Given the description of an element on the screen output the (x, y) to click on. 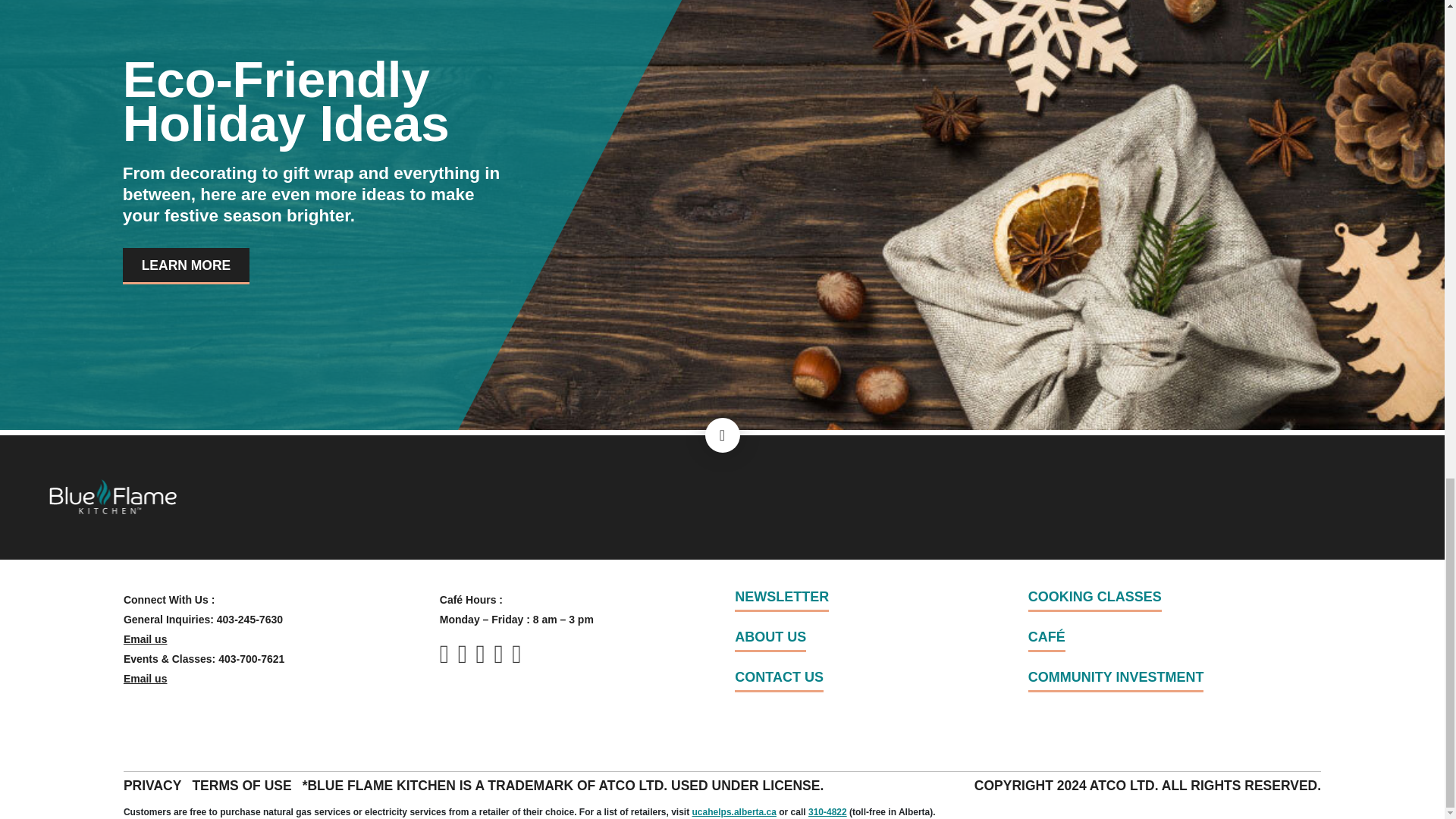
Visit the UCA Helps website (734, 811)
LEARN MORE (186, 266)
Email us (145, 639)
Email us (145, 678)
Call 310-4822 (827, 811)
